Given the description of an element on the screen output the (x, y) to click on. 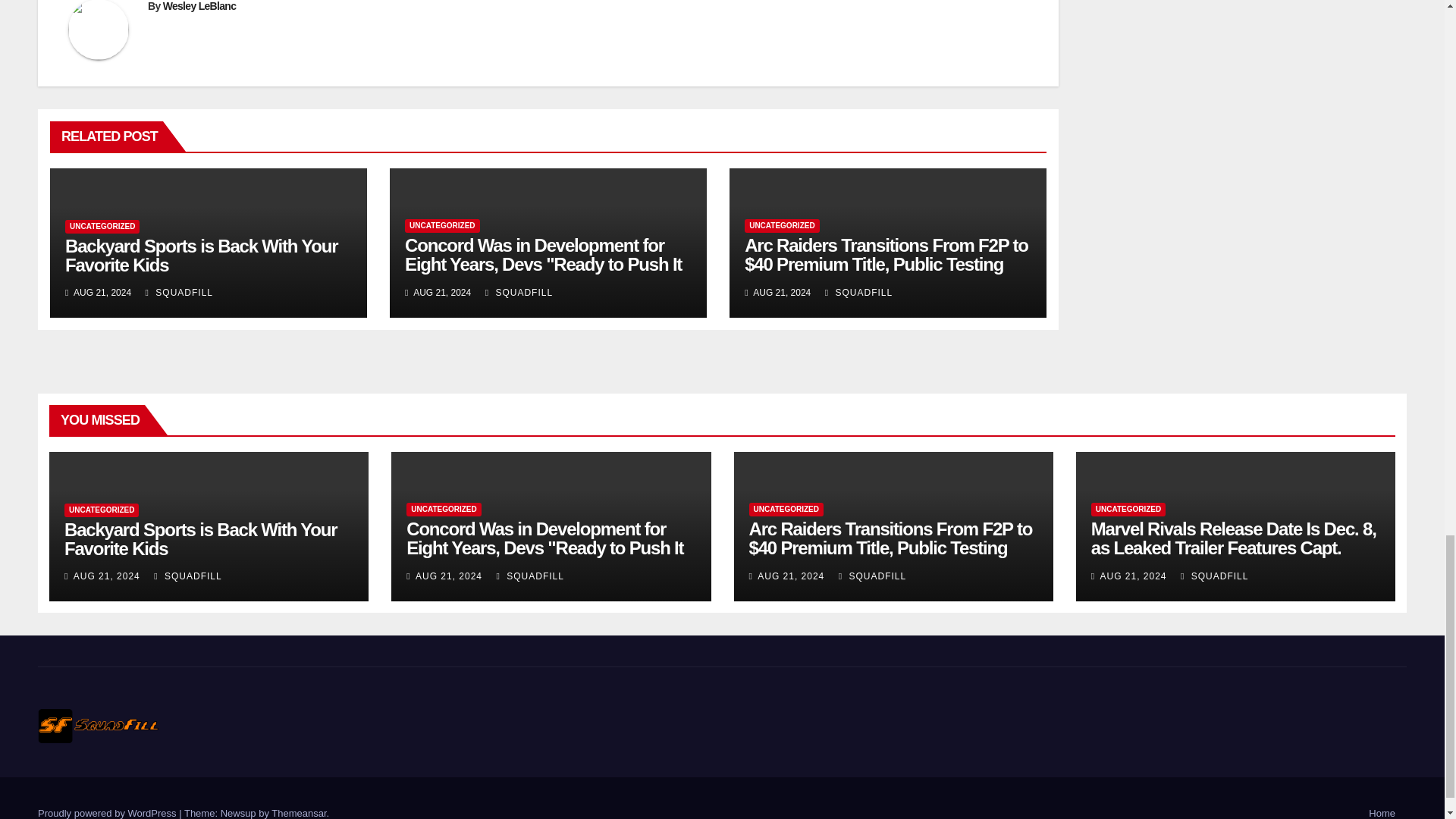
UNCATEGORIZED (441, 225)
UNCATEGORIZED (102, 226)
Backyard Sports is Back With Your Favorite Kids (201, 255)
SQUADFILL (178, 292)
Home (1381, 813)
